Given the description of an element on the screen output the (x, y) to click on. 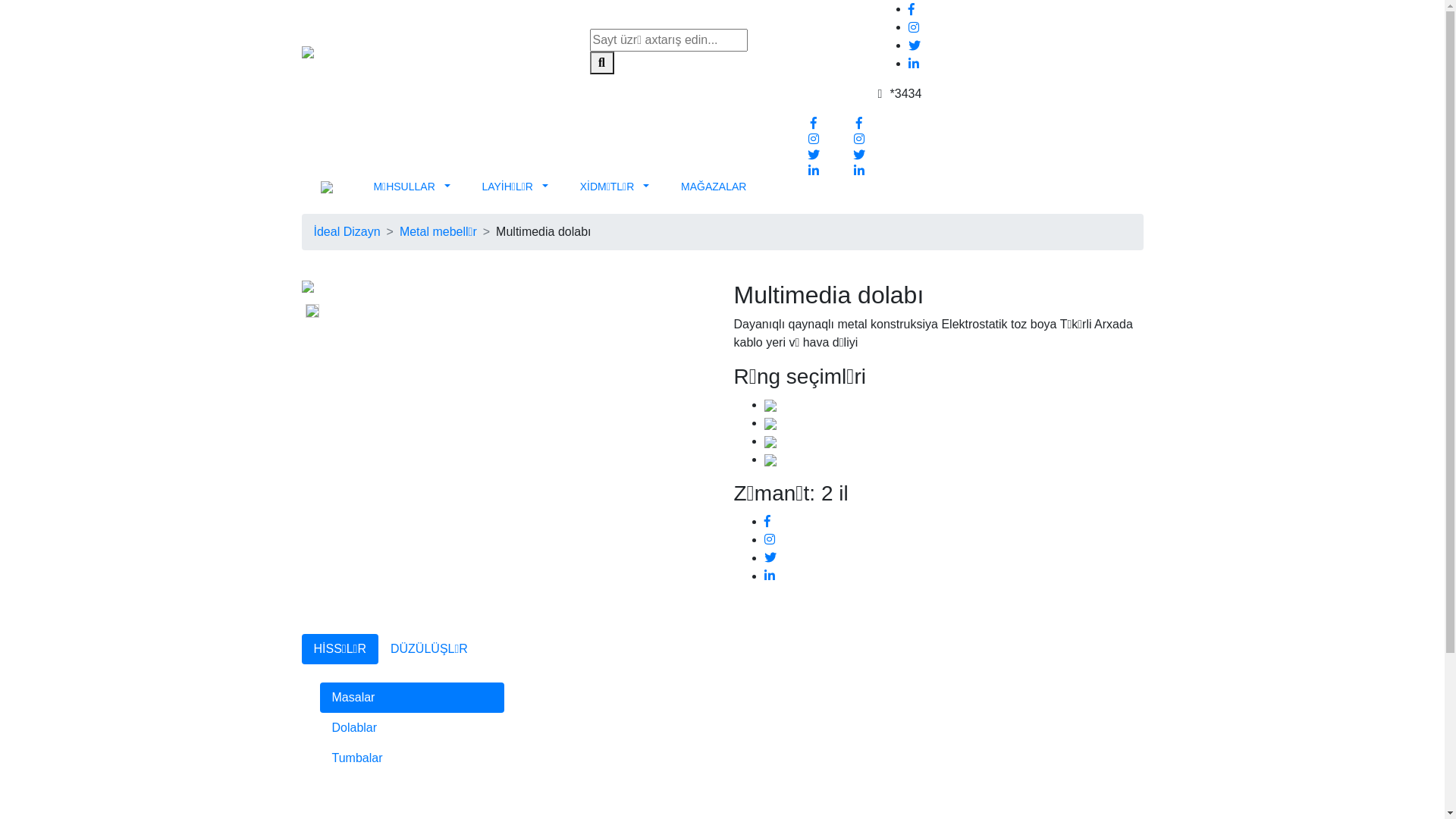
Masalar Element type: text (412, 697)
Dolablar Element type: text (412, 727)
Tumbalar Element type: text (412, 758)
